Given the description of an element on the screen output the (x, y) to click on. 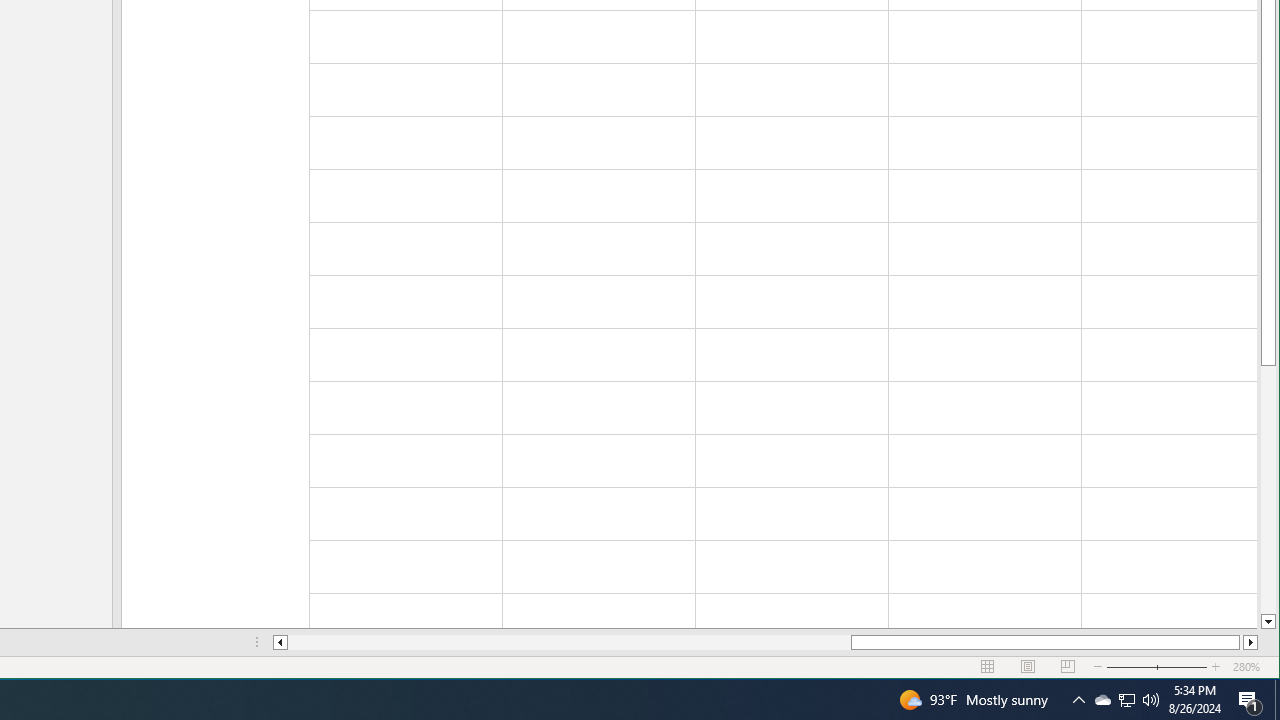
Show desktop (1277, 699)
Action Center, 1 new notification (1250, 699)
User Promoted Notification Area (1126, 699)
Q2790: 100% (1102, 699)
